Given the description of an element on the screen output the (x, y) to click on. 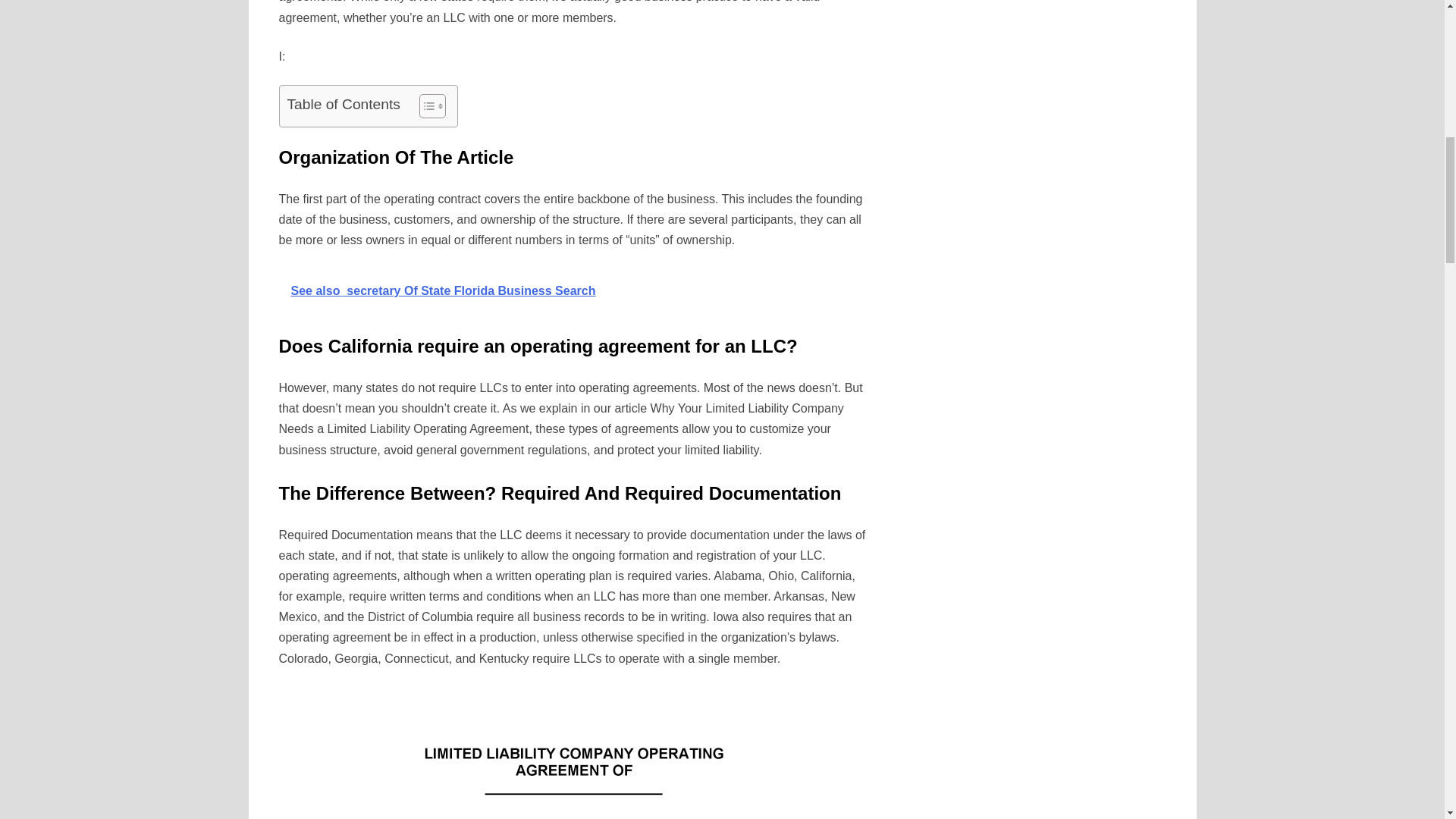
See also  secretary Of State Florida Business Search (574, 290)
